Given the description of an element on the screen output the (x, y) to click on. 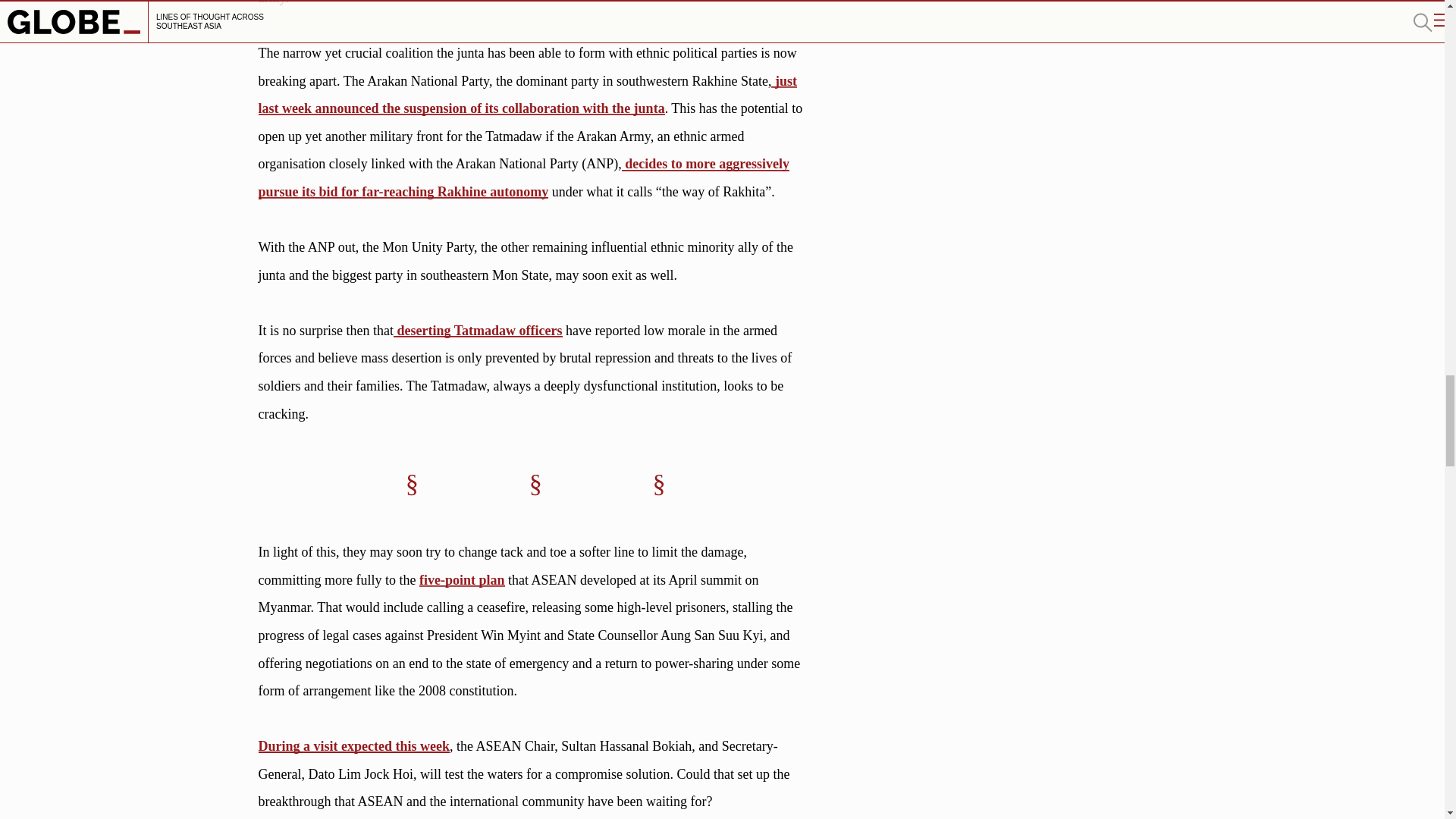
deserting Tatmadaw officers (477, 330)
five-point plan (462, 580)
During a visit expected this week (354, 745)
